Given the description of an element on the screen output the (x, y) to click on. 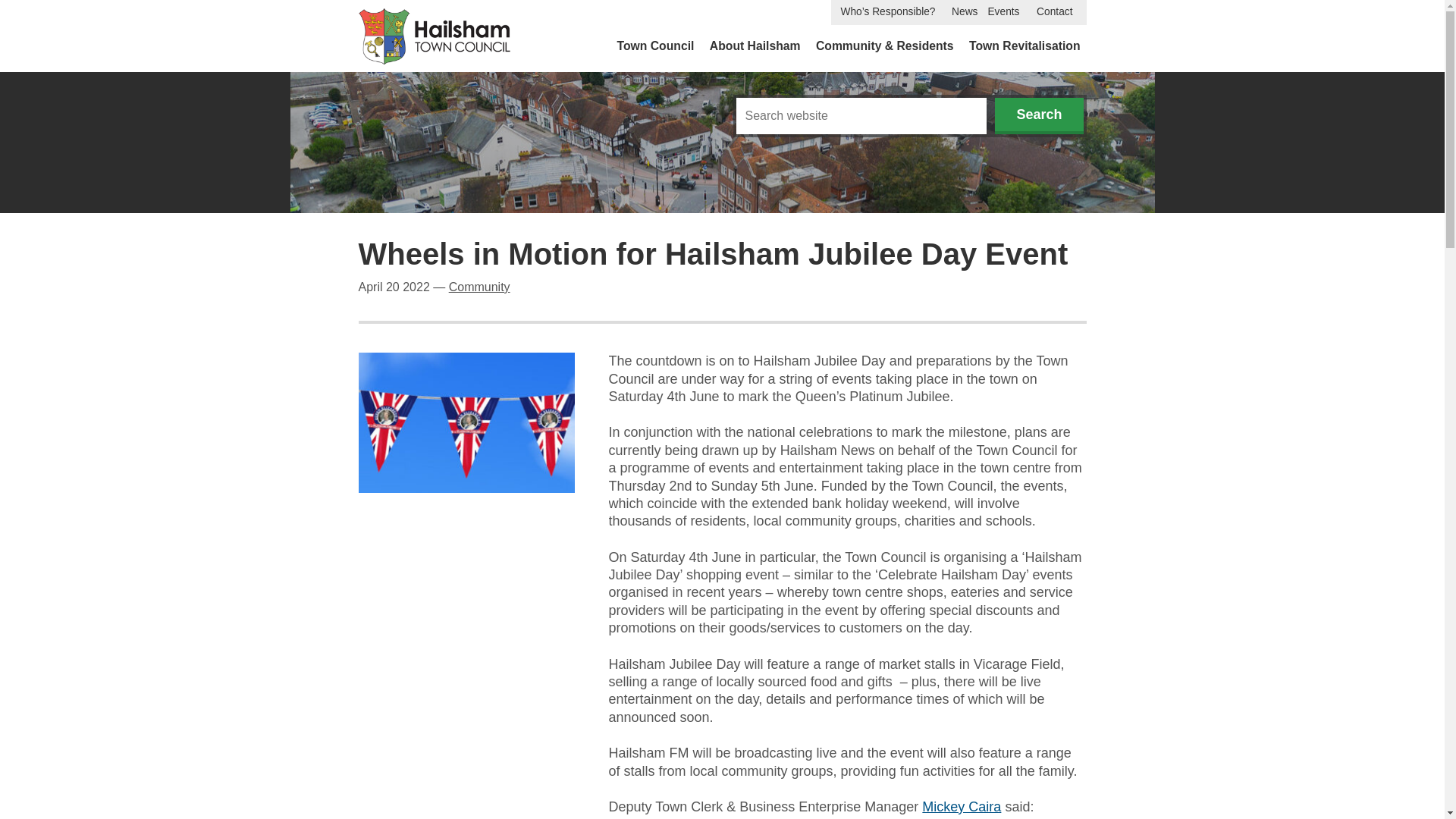
About Hailsham (754, 45)
Town Revitalisation (1024, 45)
News (964, 12)
Search (1038, 115)
Community (479, 286)
Events (1003, 12)
Town Council (655, 45)
Contact (1054, 12)
Mickey Caira (961, 806)
